Given the description of an element on the screen output the (x, y) to click on. 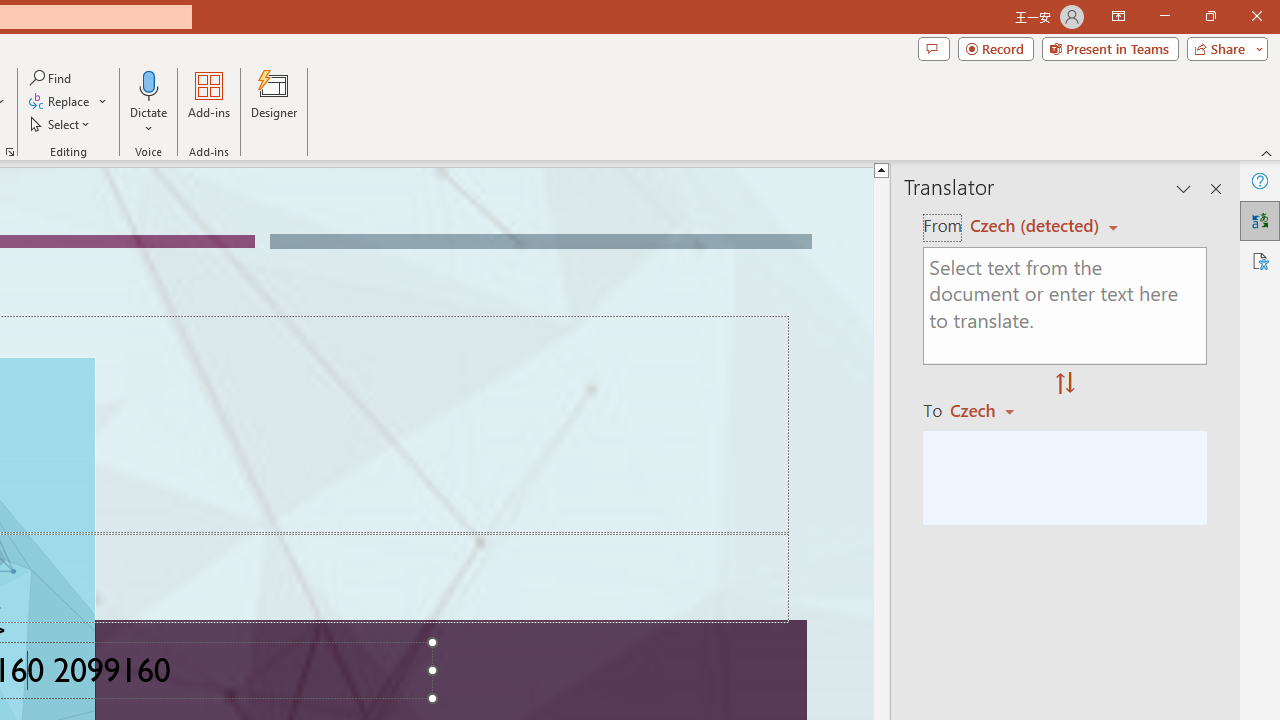
Format Object... (9, 151)
Select (61, 124)
Designer (274, 102)
Find... (51, 78)
Line up (880, 169)
Czech (991, 409)
